Given the description of an element on the screen output the (x, y) to click on. 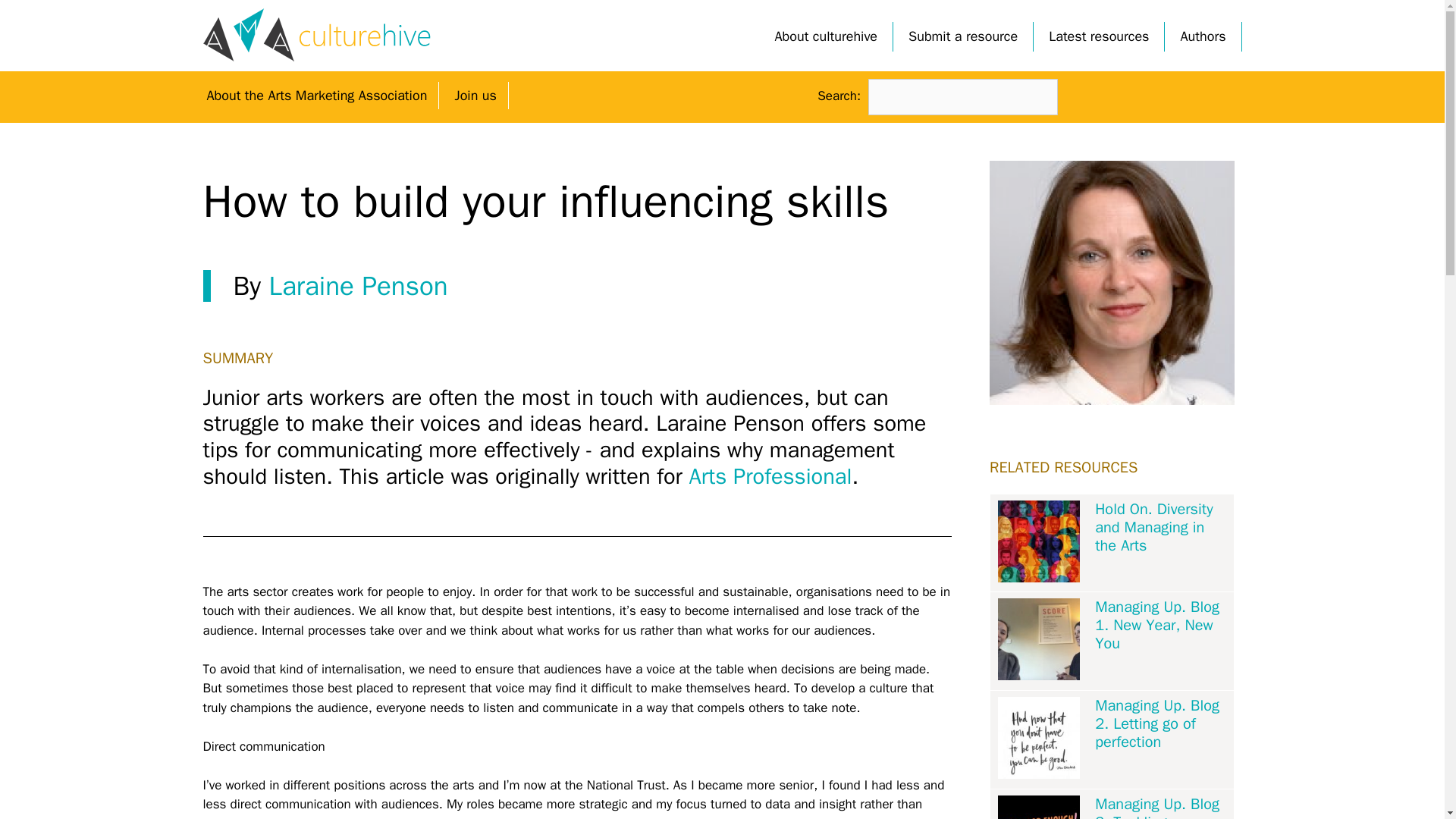
CultureHive (316, 34)
Arts Professional (769, 476)
Authors (1202, 36)
Managing Up. Blog 1. New Year, New You (1159, 625)
Laraine Penson (356, 285)
Latest resources (1098, 36)
Submit a resource (962, 36)
About culturehive (826, 36)
Managing Up. Blog 2. Letting go of perfection (1159, 723)
Hold On. Diversity and Managing in the Arts (1159, 527)
About the Arts Marketing Association (317, 94)
CultureHive (316, 35)
Managing Up. Blog 3. Tackling Imposter Syndrome (1159, 807)
Join us (475, 94)
